Given the description of an element on the screen output the (x, y) to click on. 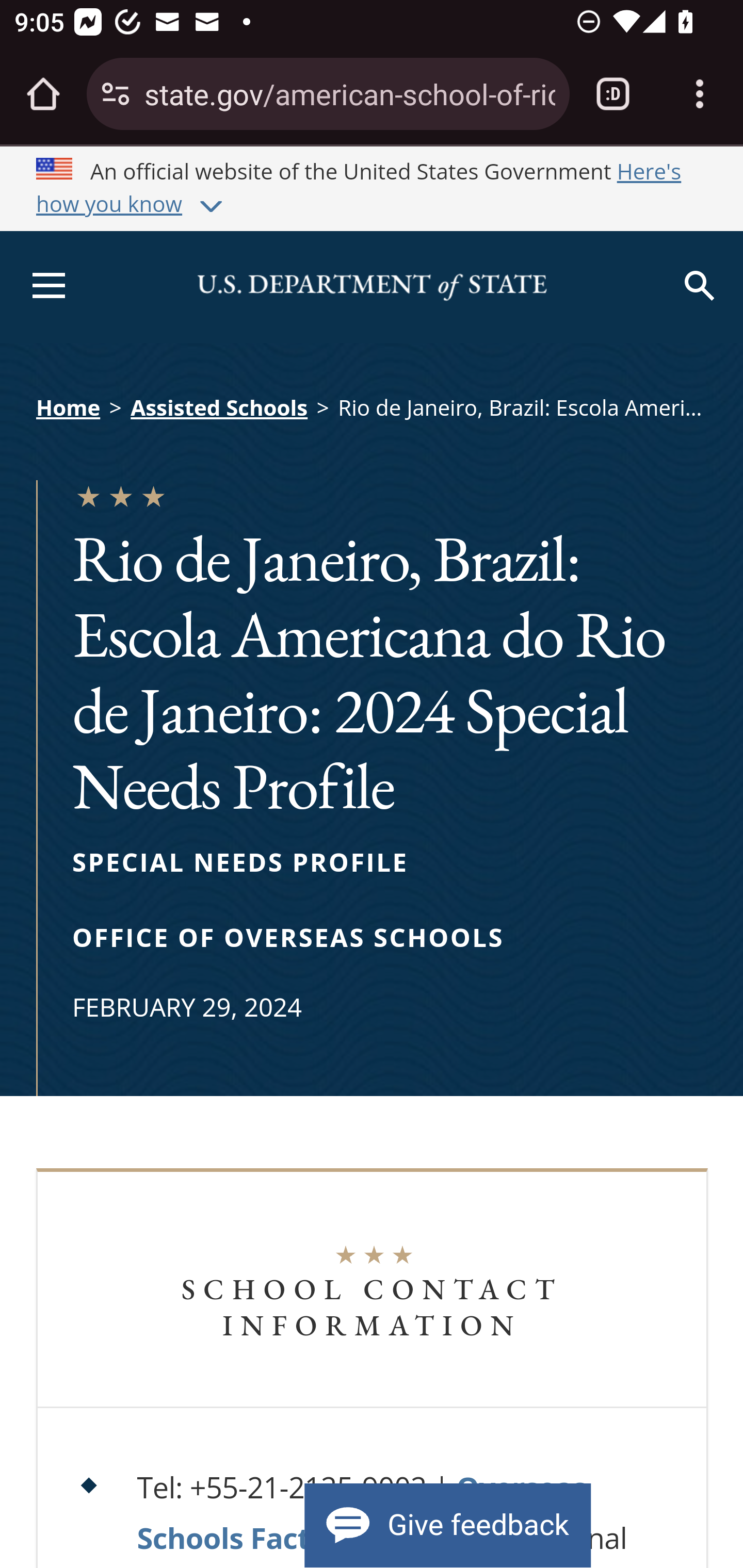
Open the home page (43, 93)
Connection is secure (115, 93)
Switch or close tabs (612, 93)
Customize and control Google Chrome (699, 93)
Menu (43, 287)
search (701, 287)
State Department Home (371, 286)
Home (68, 408)
Assisted Schools (219, 406)
OFFICE OF OVERSEAS SCHOOLS (288, 936)
Give feedback (447, 1524)
